Given the description of an element on the screen output the (x, y) to click on. 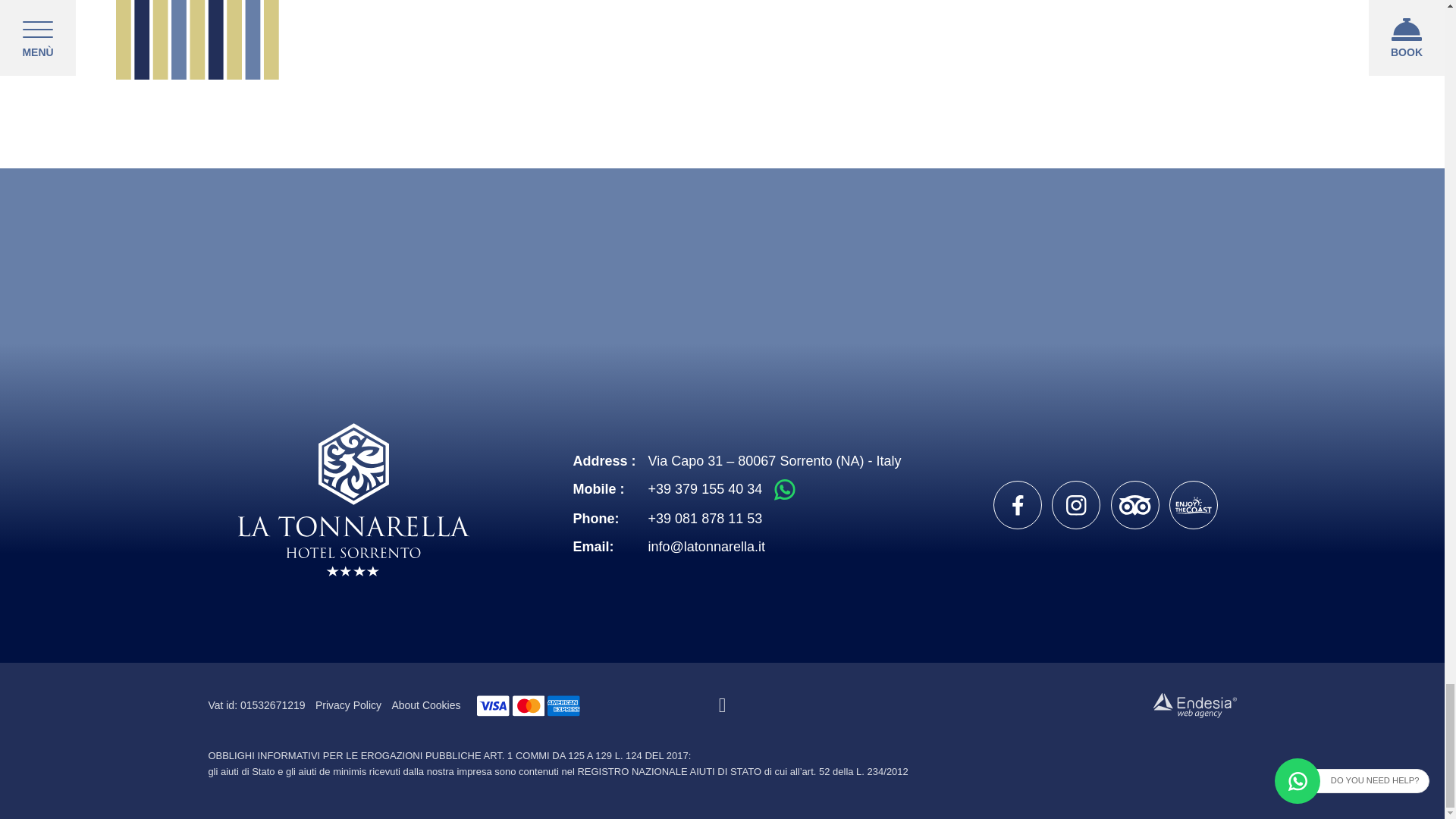
Endesia Web agency Sorrento (1194, 705)
About Cookies (425, 705)
Privacy Policy (348, 705)
Endesia Web agency Sorrento (1194, 705)
REGISTRO NAZIONALE AIUTI DI STATO (668, 771)
Signaled on Enjoy the Coast (1193, 504)
Endesia Web agency a Napoli e Sorrento (1194, 705)
